Given the description of an element on the screen output the (x, y) to click on. 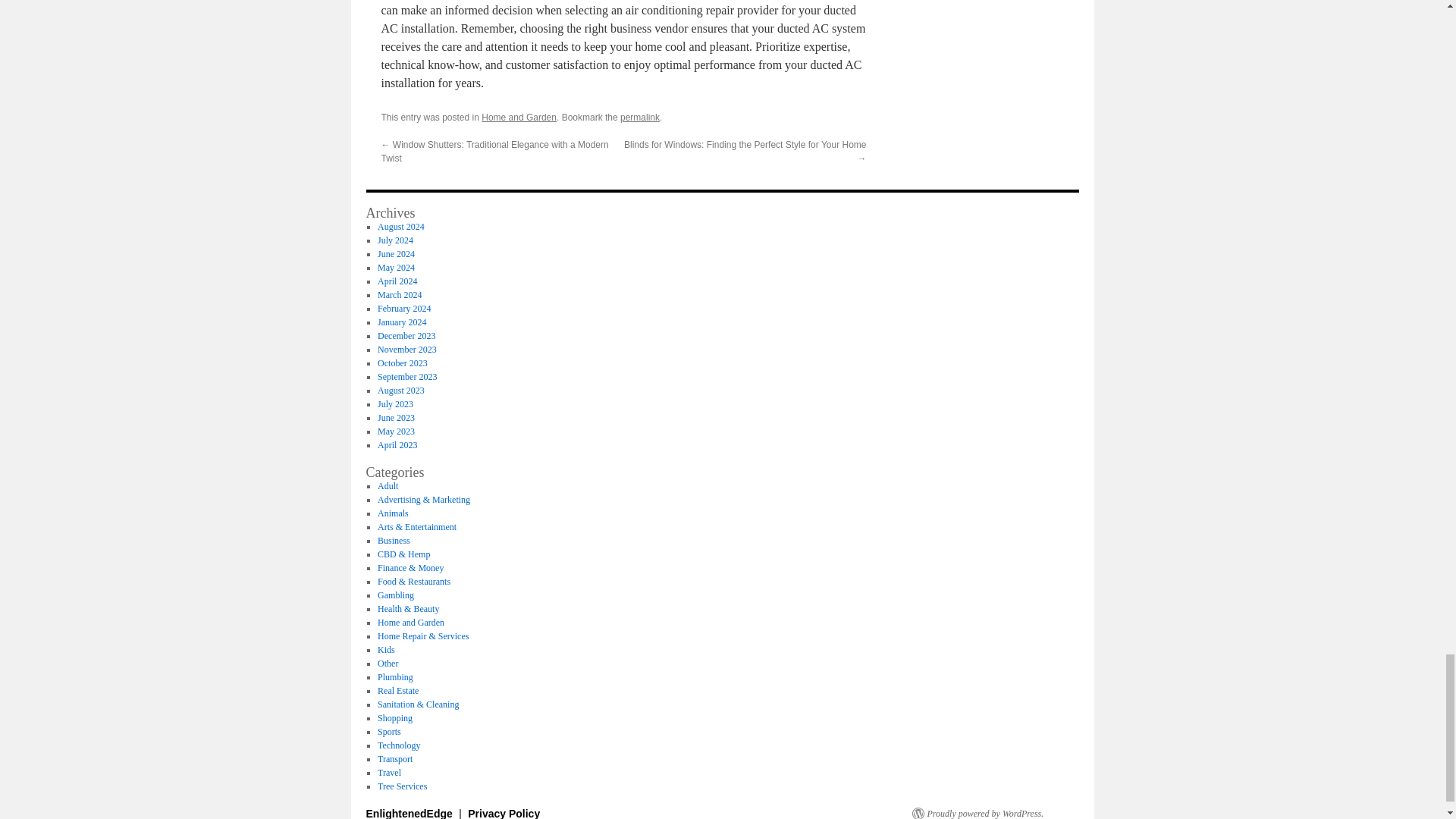
August 2023 (401, 389)
June 2024 (395, 253)
July 2023 (395, 403)
June 2023 (395, 417)
January 2024 (401, 321)
April 2024 (396, 281)
February 2024 (403, 308)
April 2023 (396, 444)
permalink (639, 117)
